Given the description of an element on the screen output the (x, y) to click on. 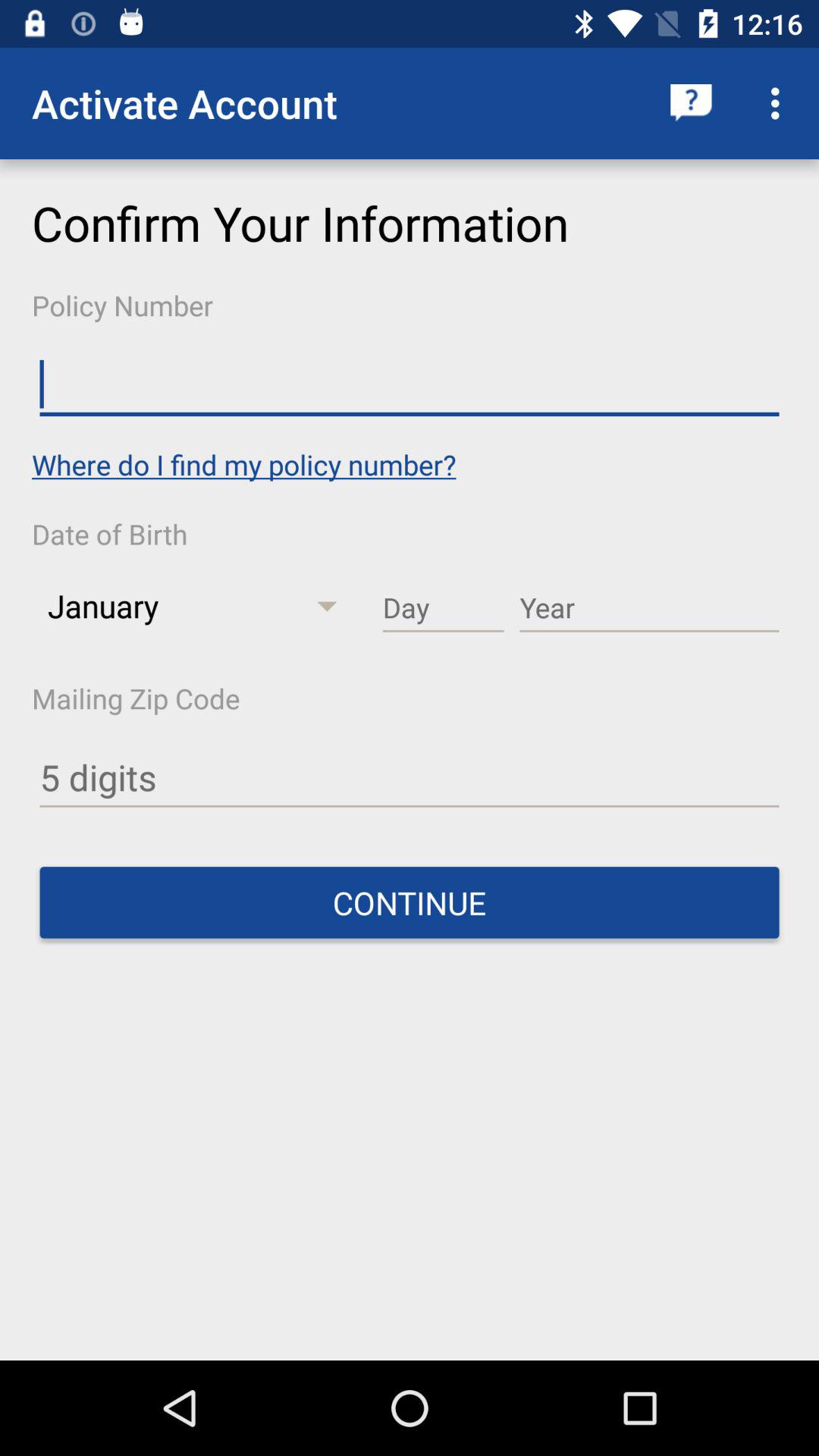
enter zipcode (409, 777)
